Given the description of an element on the screen output the (x, y) to click on. 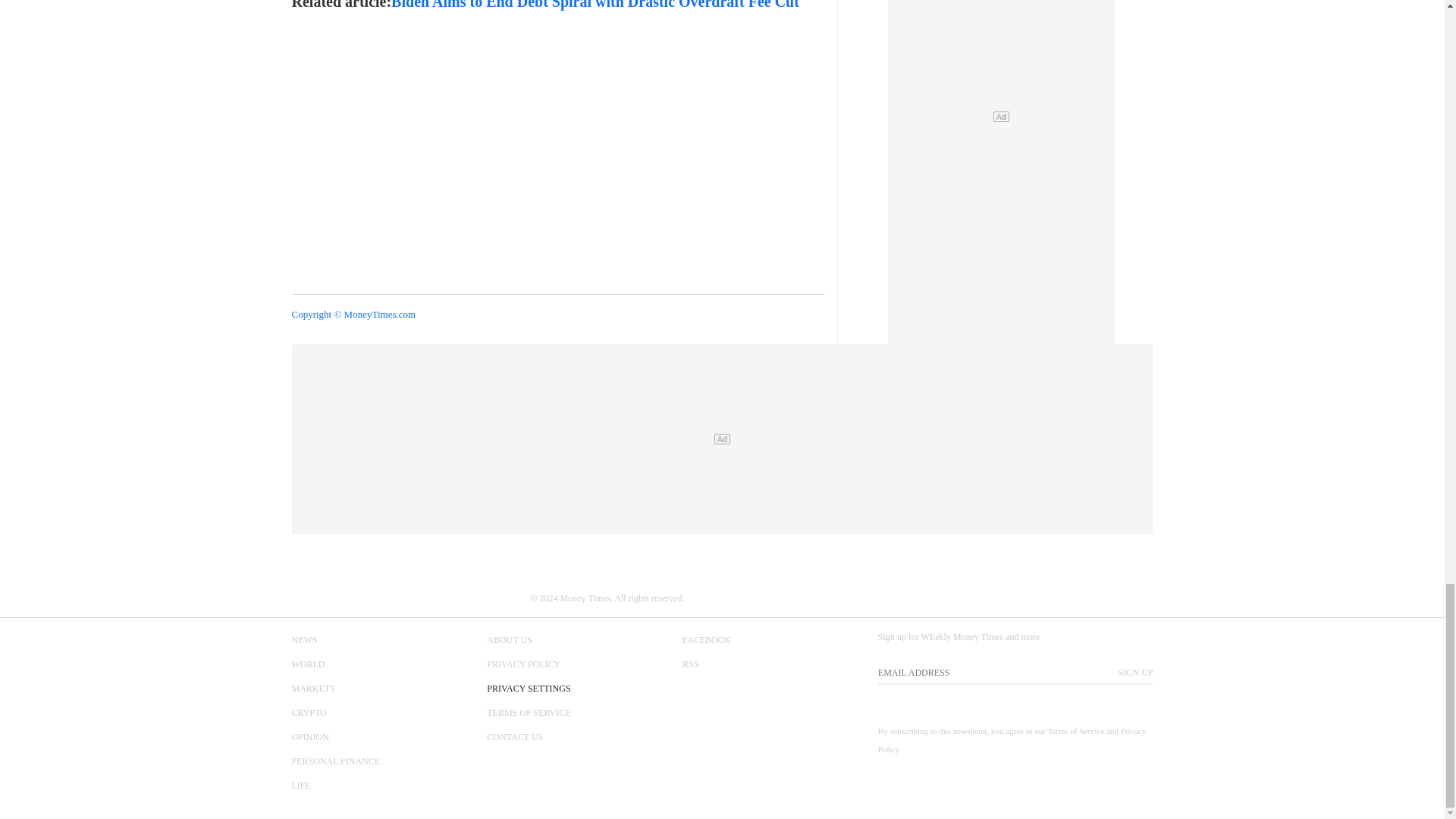
SIGN UP (1135, 672)
Biden Aims to End Debt Spiral with Drastic Overdraft Fee Cut (595, 4)
